Given the description of an element on the screen output the (x, y) to click on. 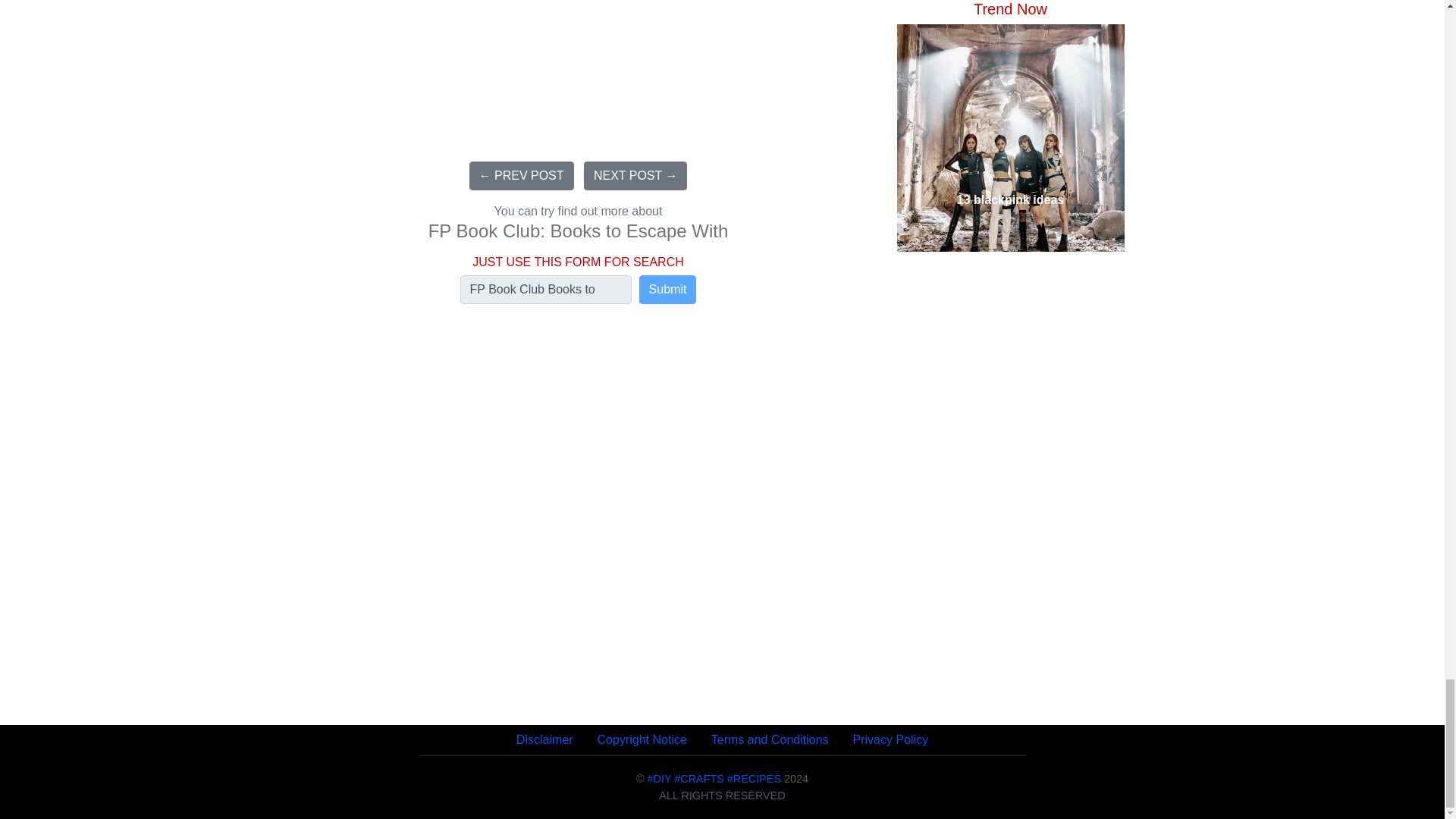
FP Book Club Books to (545, 289)
Submit (668, 289)
